Given the description of an element on the screen output the (x, y) to click on. 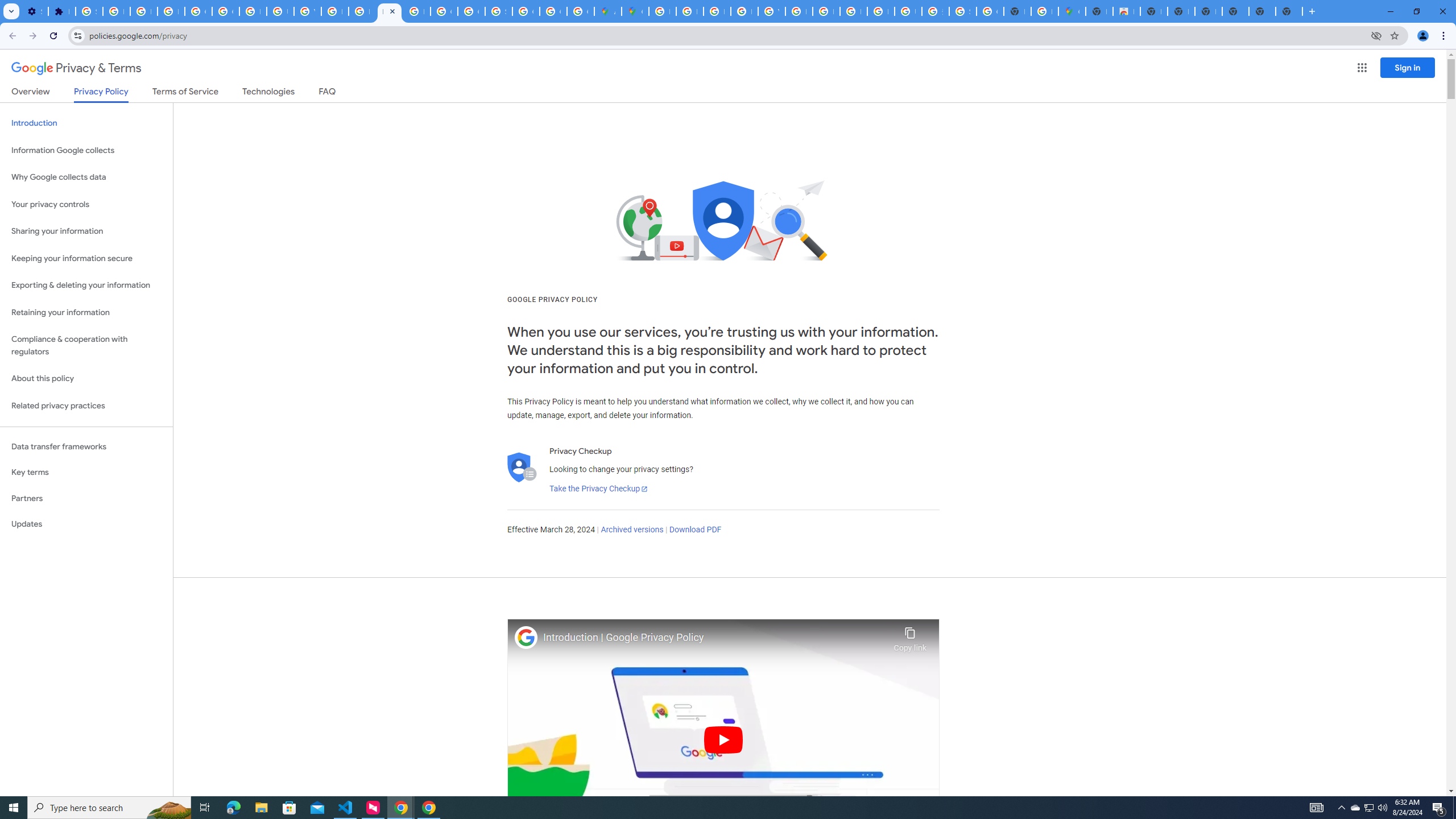
Photo image of Google (526, 636)
Privacy Help Center - Policies Help (362, 11)
Related privacy practices (86, 405)
Introduction | Google Privacy Policy (715, 637)
New Tab (1099, 11)
Sign in - Google Accounts (962, 11)
